Given the description of an element on the screen output the (x, y) to click on. 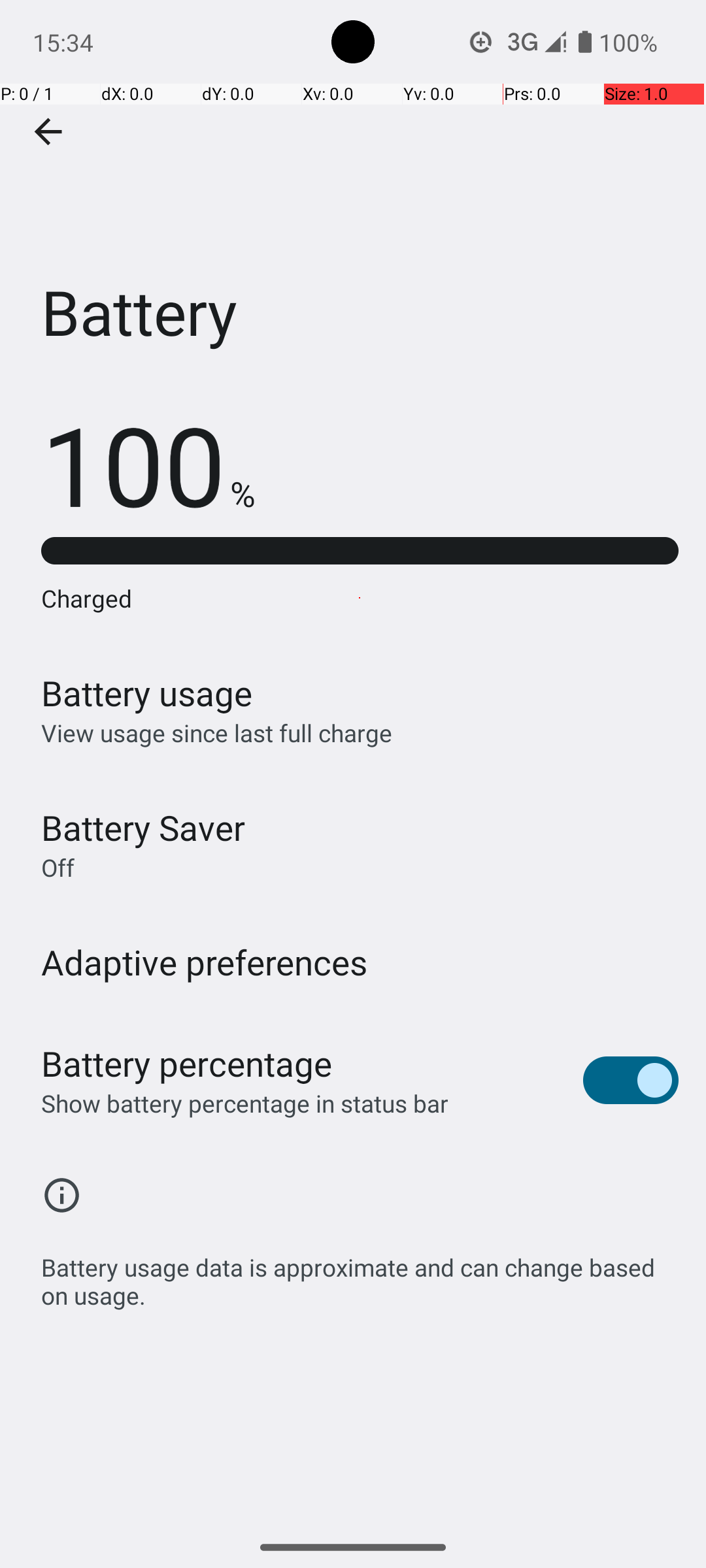
100 % Element type: android.widget.TextView (147, 463)
Charged Element type: android.widget.TextView (359, 597)
Battery usage Element type: android.widget.TextView (146, 692)
View usage since last full charge Element type: android.widget.TextView (216, 732)
Battery Saver Element type: android.widget.TextView (143, 827)
Adaptive preferences Element type: android.widget.TextView (204, 961)
Battery percentage Element type: android.widget.TextView (186, 1063)
Show battery percentage in status bar Element type: android.widget.TextView (244, 1102)
Battery usage data is approximate and can change based on usage. Element type: android.widget.TextView (359, 1274)
